Given the description of an element on the screen output the (x, y) to click on. 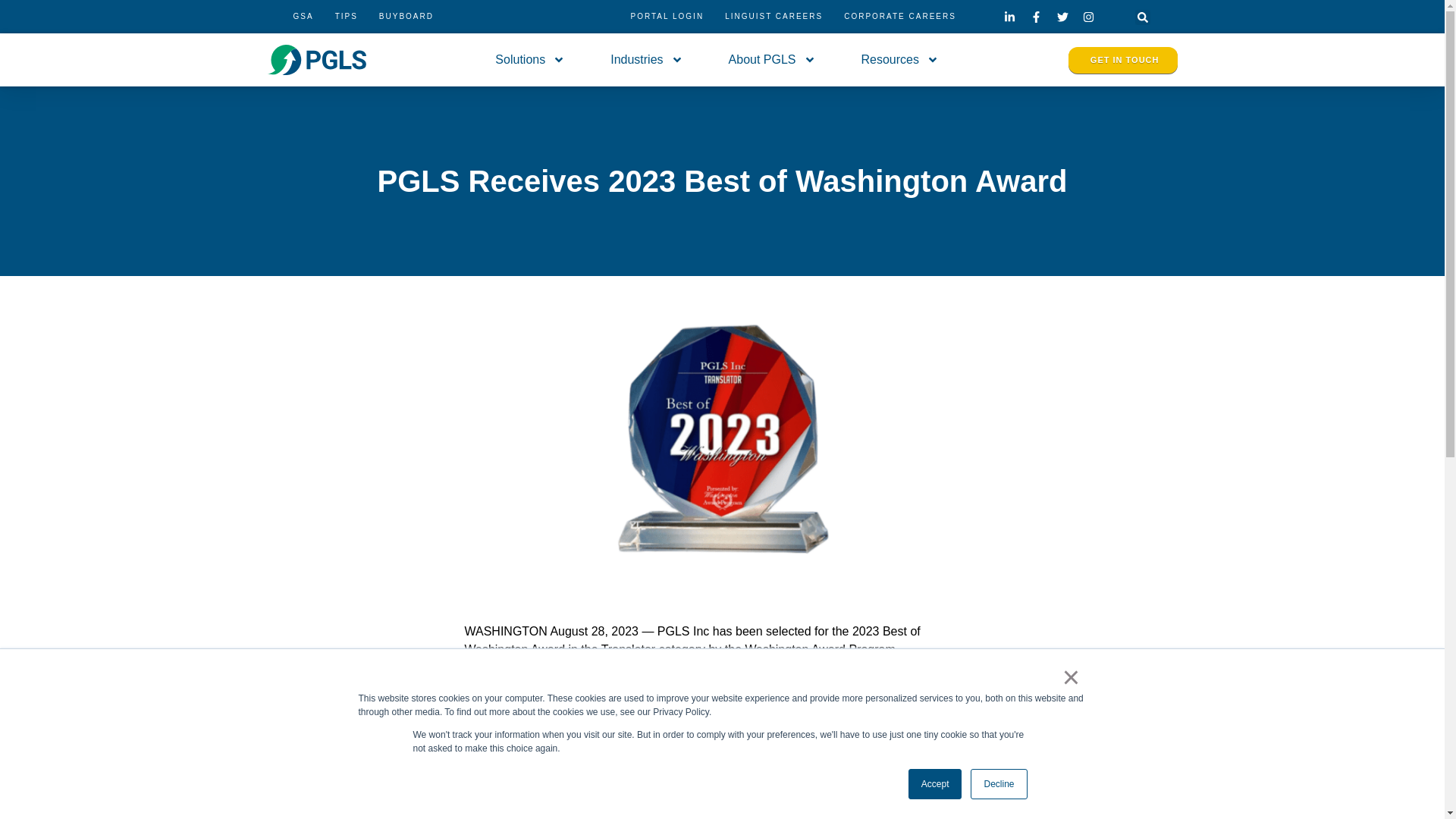
BUYBOARD (406, 16)
PORTAL LOGIN (667, 16)
Solutions (529, 59)
LINGUIST CAREERS (773, 16)
TIPS (346, 16)
Accept (935, 784)
GSA (302, 16)
CORPORATE CAREERS (899, 16)
Decline (998, 784)
Industries (646, 59)
